Given the description of an element on the screen output the (x, y) to click on. 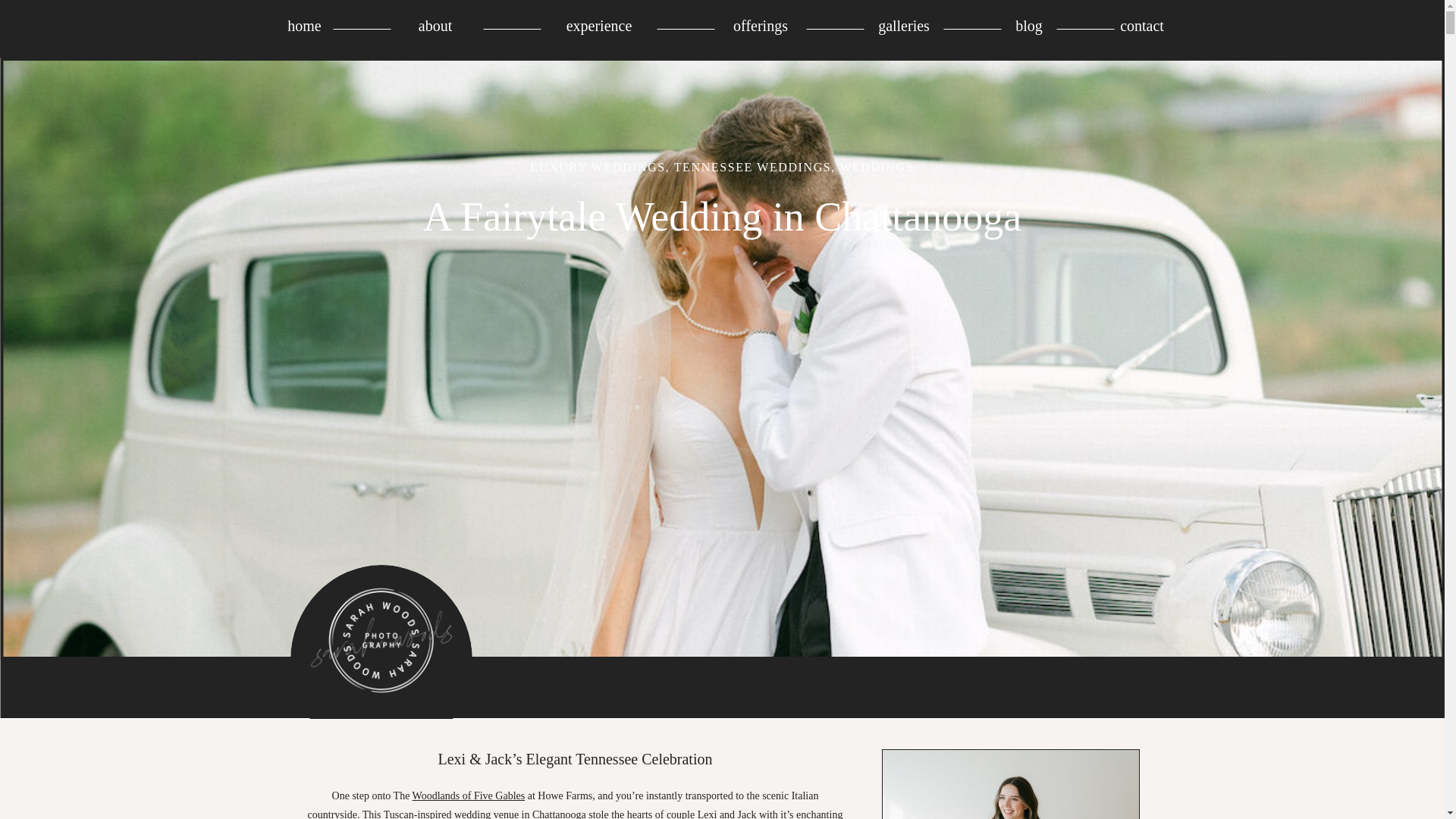
home (304, 26)
about  (437, 26)
experience (599, 26)
offerings (760, 26)
TENNESSEE WEDDINGS (752, 166)
galleries (903, 26)
blog (1029, 26)
contact (1142, 26)
LUXURY WEDDINGS (598, 166)
Woodlands of Five Gables (468, 795)
